Given the description of an element on the screen output the (x, y) to click on. 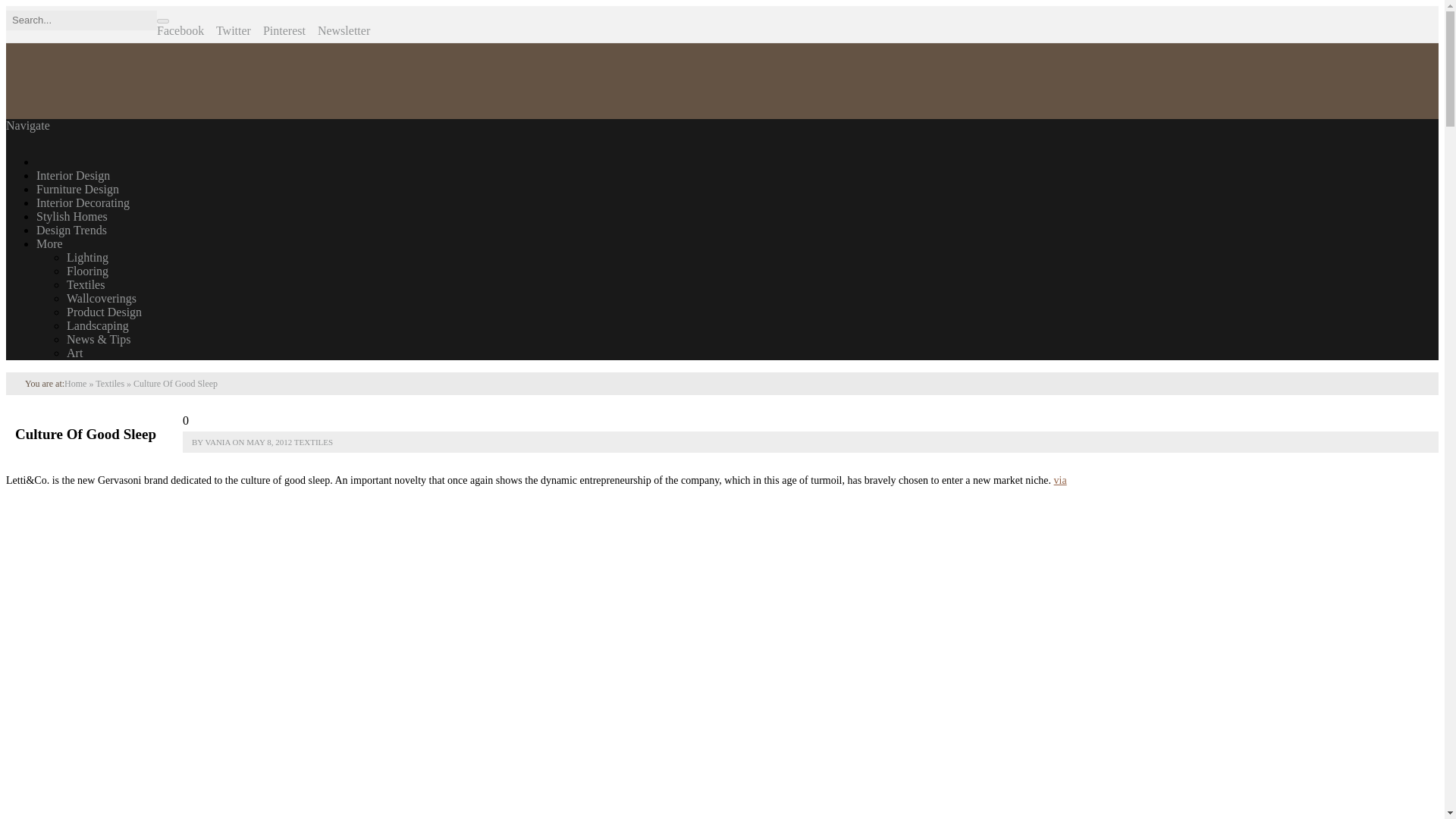
Furniture Design (77, 188)
Twitter (232, 30)
Product Design (103, 311)
2012-05-08 (269, 441)
Art (74, 352)
Interior Decorating (82, 202)
Stylish Homes (71, 215)
Join us on Facebook (180, 30)
via (1060, 480)
Design Trends (71, 229)
Follow us on Pinterest (284, 30)
Landscaping (97, 325)
VANIA (217, 441)
Home (74, 383)
TEXTILES (313, 441)
